Given the description of an element on the screen output the (x, y) to click on. 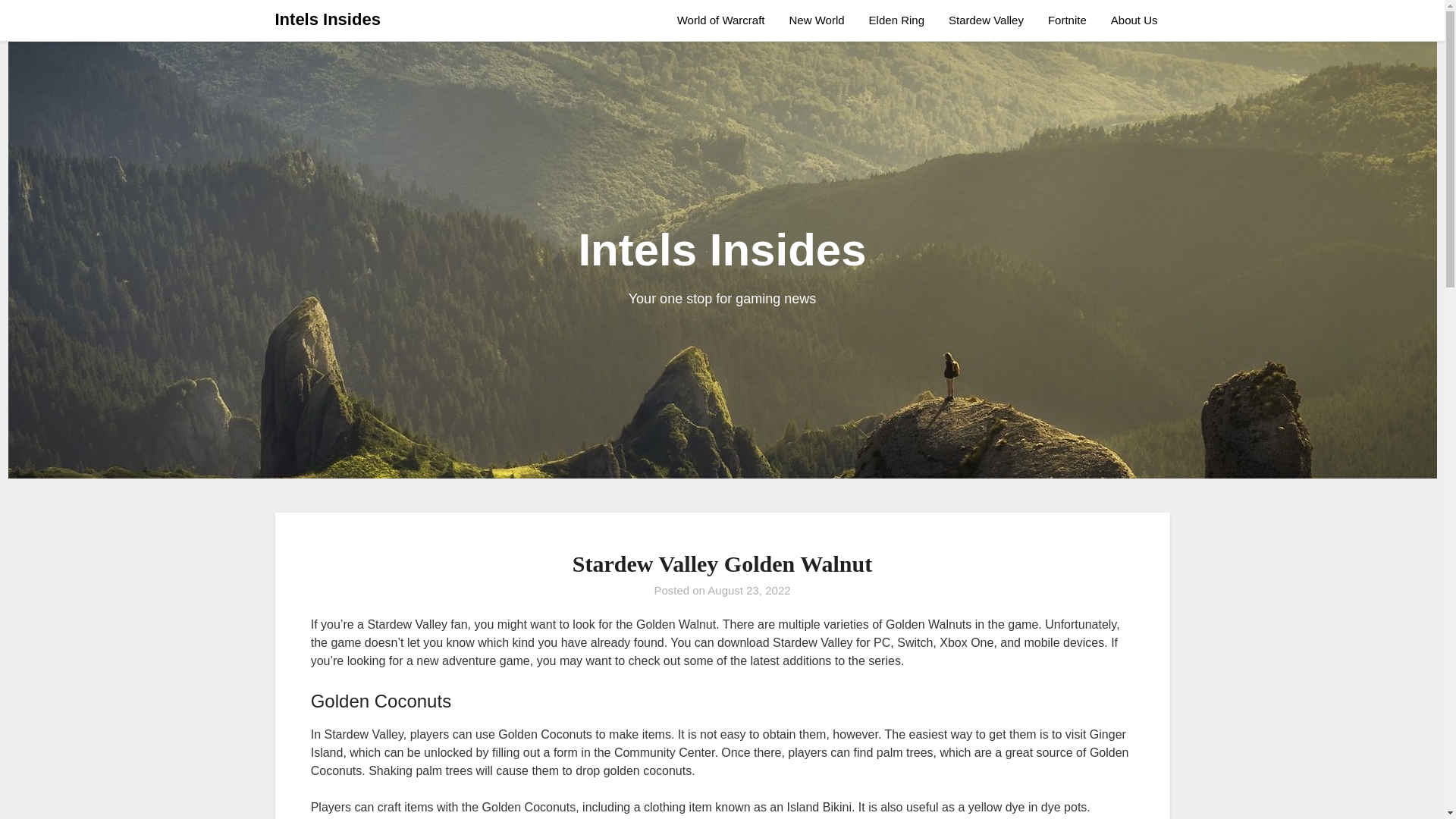
August 23, 2022 (748, 590)
About Us (1134, 20)
Elden Ring (896, 20)
World of Warcraft (727, 20)
Fortnite (1067, 20)
New World (817, 20)
Intels Insides (327, 19)
Stardew Valley (985, 20)
